Given the description of an element on the screen output the (x, y) to click on. 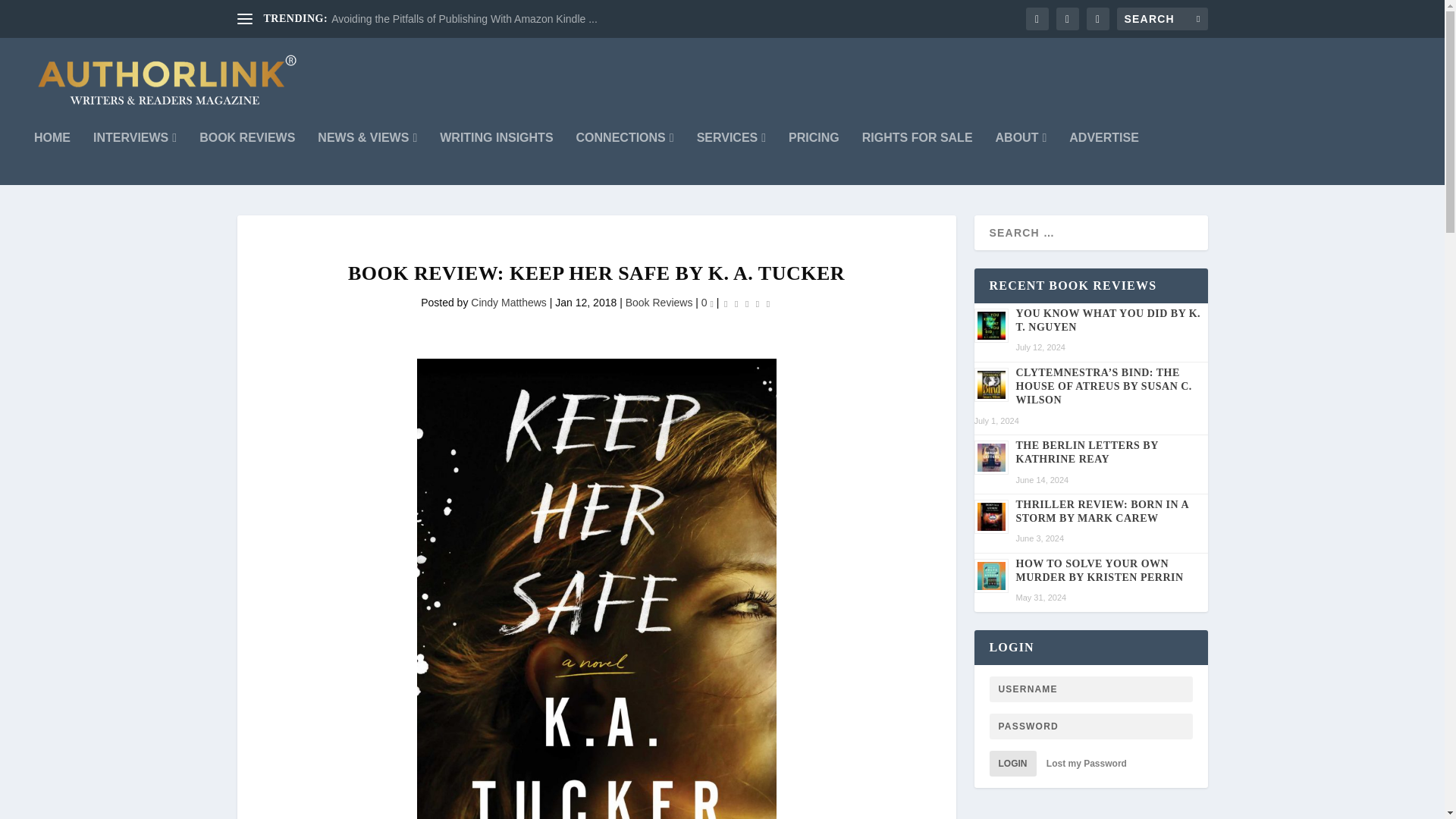
Search for: (1161, 18)
Rating: 0.00 (746, 303)
Avoiding the Pitfalls of Publishing With Amazon Kindle ... (463, 19)
SERVICES (731, 158)
RIGHTS FOR SALE (916, 158)
WRITING INSIGHTS (496, 158)
Posts by Cindy Matthews (508, 302)
PRICING (814, 158)
ABOUT (1020, 158)
CONNECTIONS (625, 158)
BOOK REVIEWS (247, 158)
INTERVIEWS (134, 158)
